Given the description of an element on the screen output the (x, y) to click on. 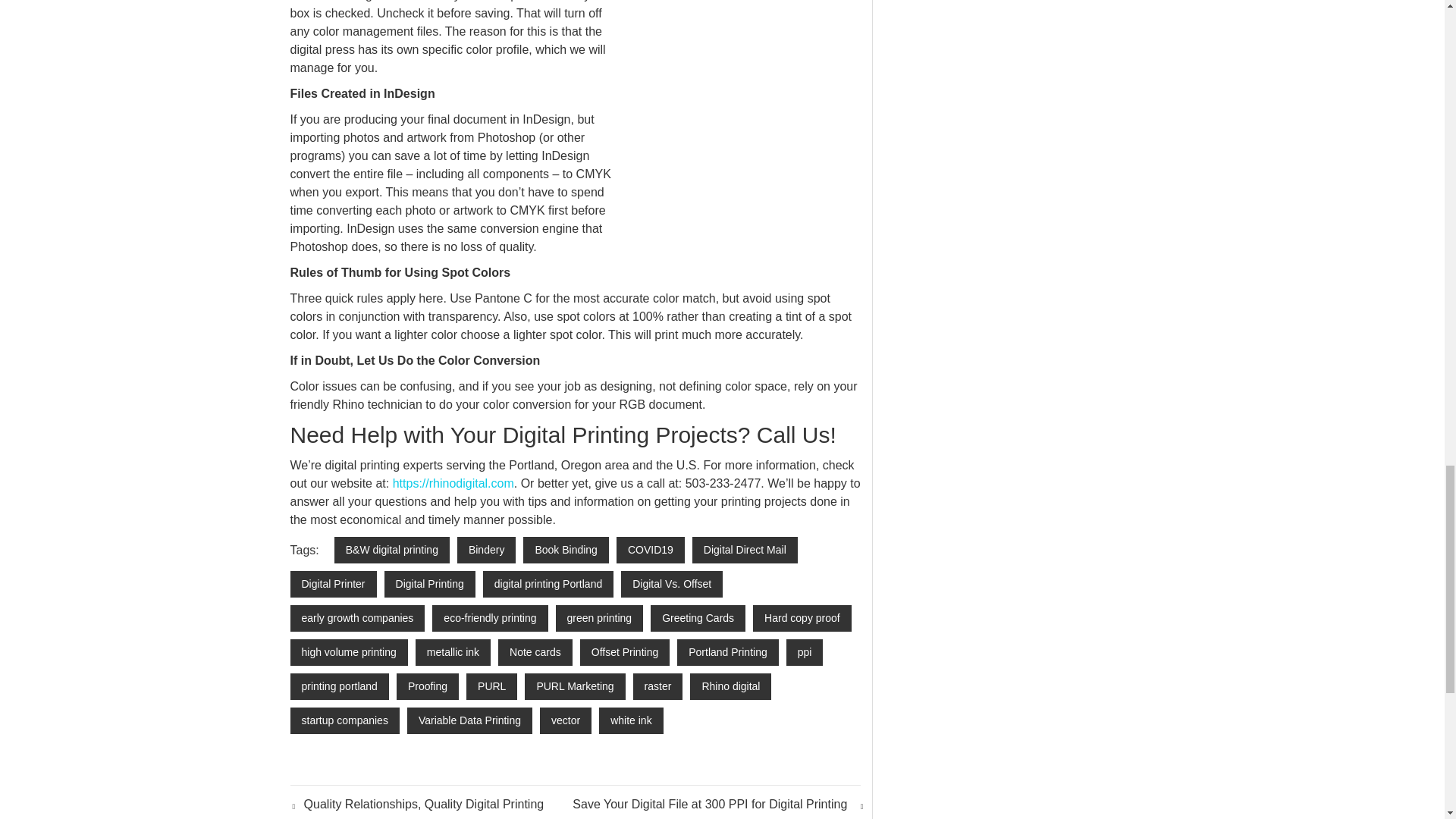
Digital Direct Mail (745, 550)
Bindery (486, 550)
Digital Printer (332, 583)
Greeting Cards (697, 618)
Digital Direct Mail (745, 550)
COVID19 (649, 550)
COVID19 (649, 550)
early growth companies (357, 618)
Book Binding (565, 550)
Digital Vs. Offset (671, 583)
Bindery (486, 550)
eco-friendly printing (489, 618)
Digital Printing (430, 583)
Hard copy proof (801, 618)
Digital Vs. Offset (671, 583)
